Given the description of an element on the screen output the (x, y) to click on. 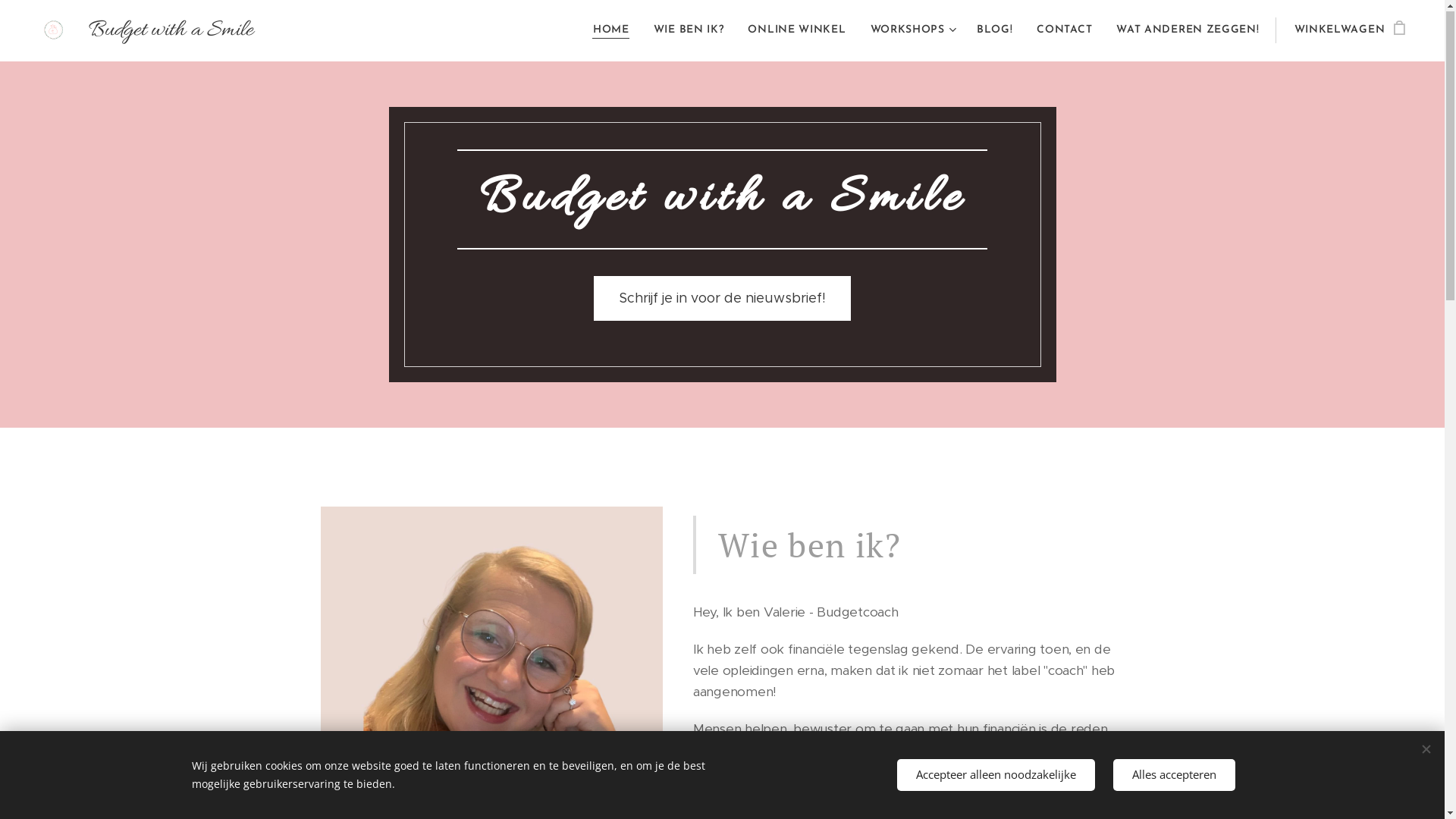
WAT ANDEREN ZEGGEN! Element type: text (1187, 31)
HOME Element type: text (615, 31)
CONTACT Element type: text (1064, 31)
ONLINE WINKEL Element type: text (796, 31)
Accepteer alleen noodzakelijke Element type: text (995, 774)
BLOG! Element type: text (994, 31)
Alles accepteren Element type: text (1174, 774)
WORKSHOPS Element type: text (911, 31)
WINKELWAGEN Element type: text (1344, 31)
Schrijf je in voor de nieuwsbrief! Element type: text (721, 298)
WIE BEN IK? Element type: text (688, 31)
